Given the description of an element on the screen output the (x, y) to click on. 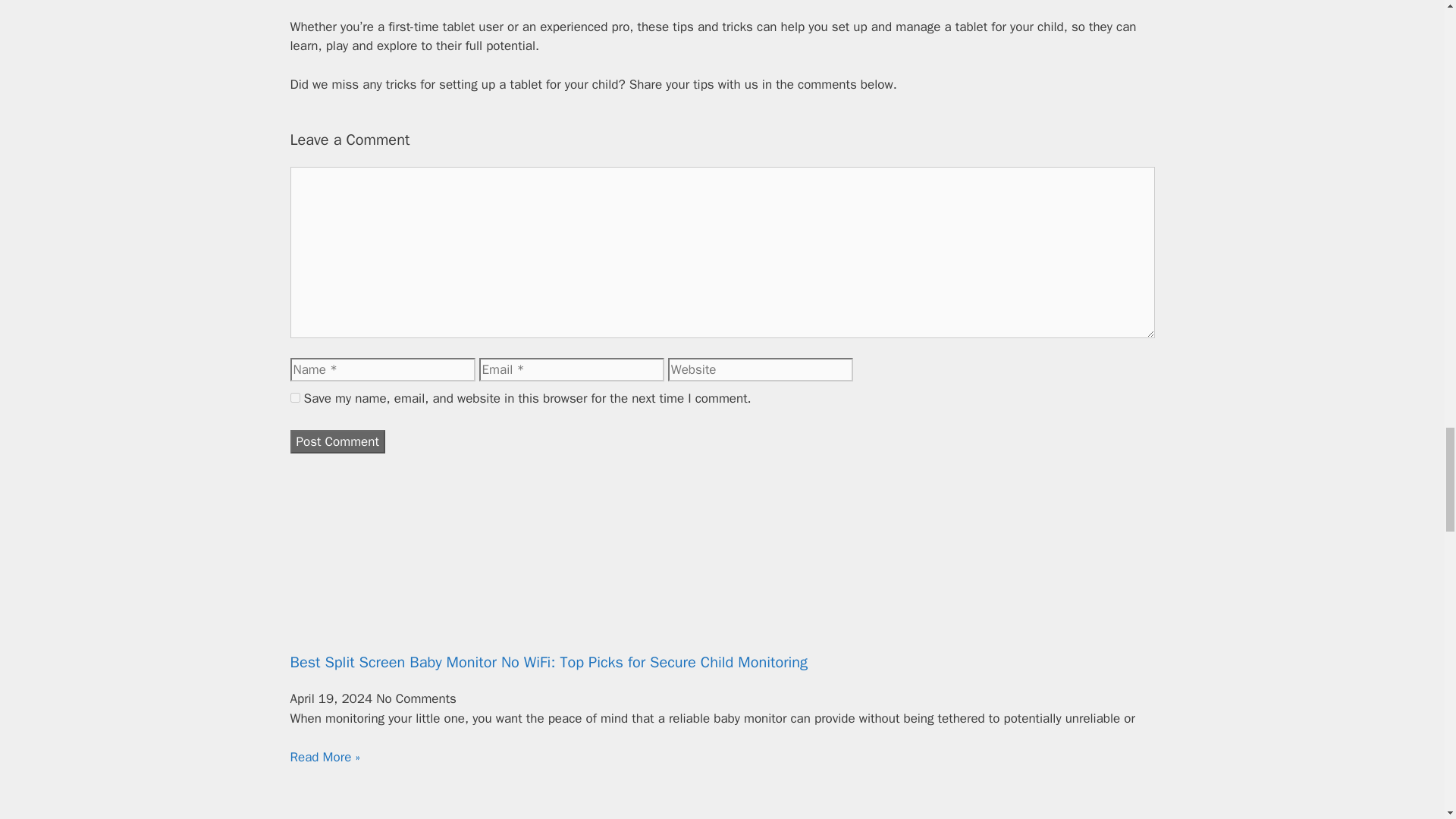
Post Comment (336, 441)
Post Comment (336, 441)
yes (294, 397)
